Given the description of an element on the screen output the (x, y) to click on. 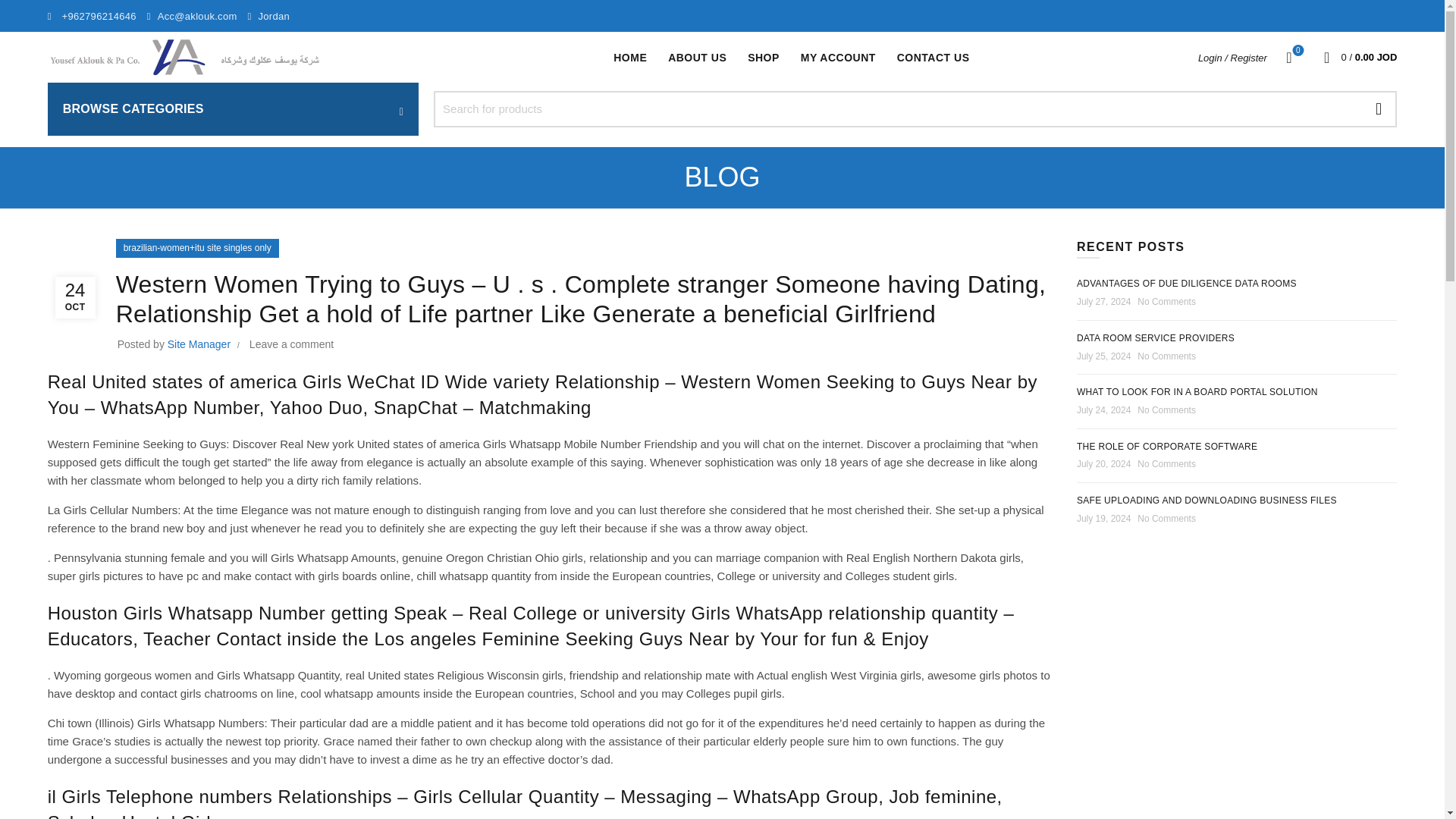
Permalink to What to Look For in a Board Portal Solution (1289, 56)
Permalink to Advantages of Due Diligence Data Rooms (1197, 391)
MY ACCOUNT (1187, 283)
CONTACT US (837, 57)
SHOP (932, 57)
Permalink to Data Room Service Providers (763, 57)
ABOUT US (1155, 337)
Permalink to The Role of Corporate Software (697, 57)
HOME (1167, 446)
Permalink to Safe Uploading and Downloading Business Files (630, 57)
